Given the description of an element on the screen output the (x, y) to click on. 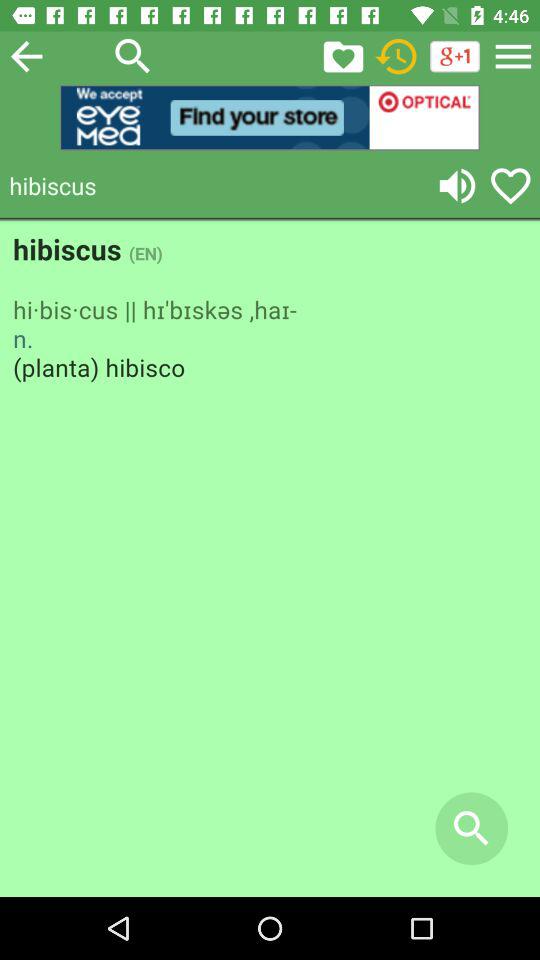
choose favourite symbol (510, 185)
